Given the description of an element on the screen output the (x, y) to click on. 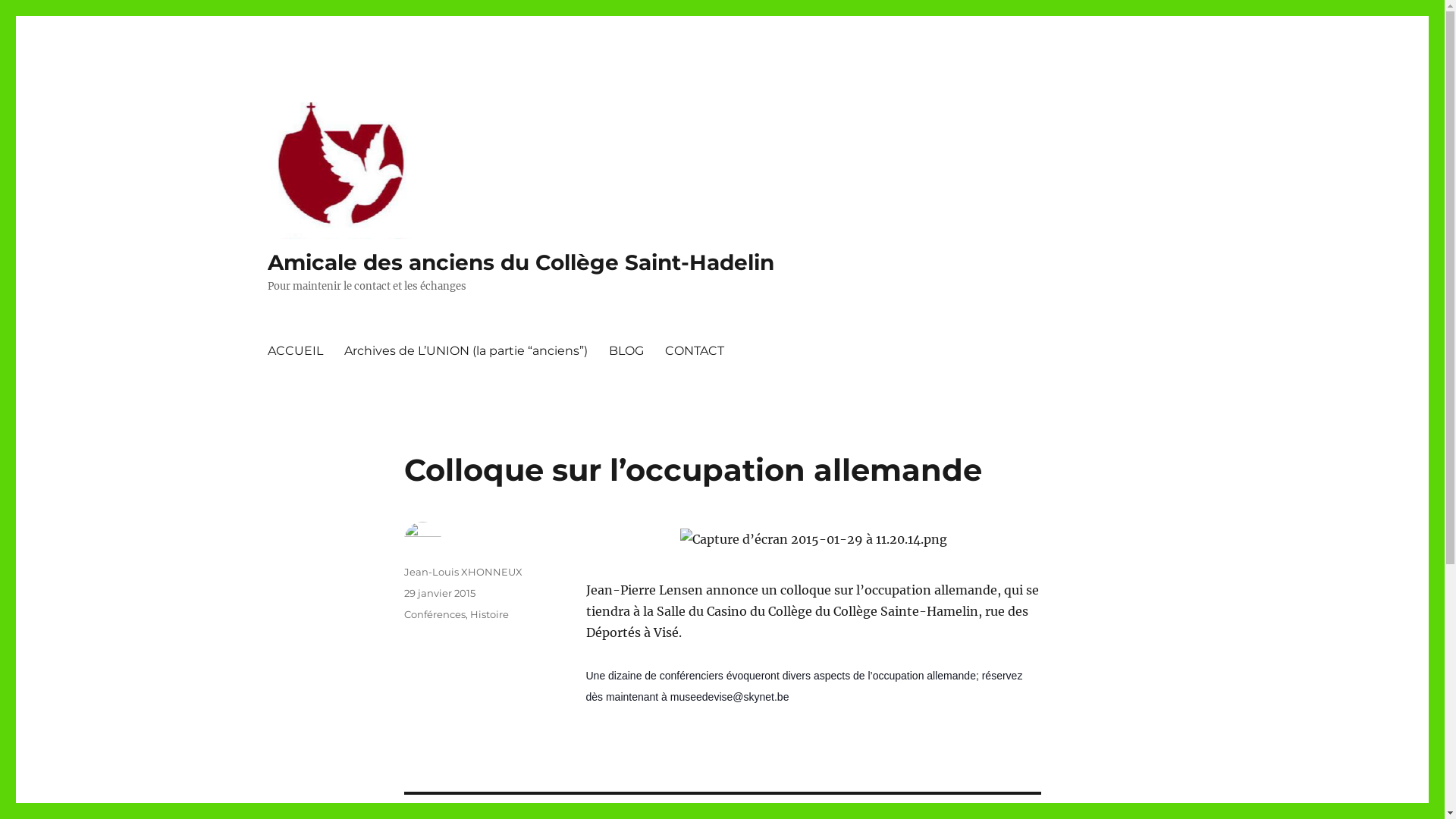
CONTACT Element type: text (693, 350)
BLOG Element type: text (625, 350)
29 janvier 2015 Element type: text (438, 592)
Histoire Element type: text (489, 614)
ACCUEIL Element type: text (294, 350)
Jean-Louis XHONNEUX Element type: text (462, 571)
